Given the description of an element on the screen output the (x, y) to click on. 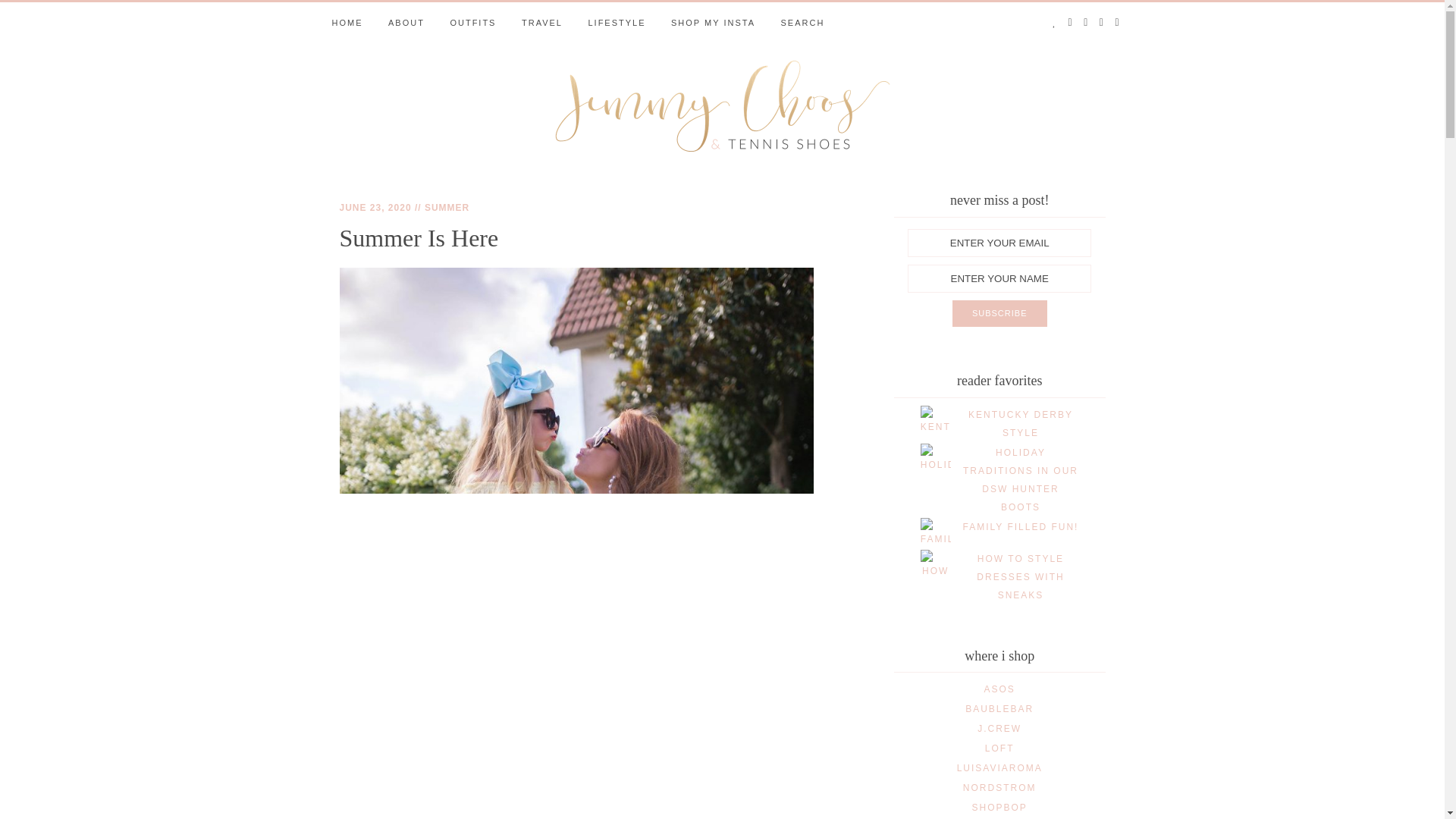
OUTFITS (472, 23)
Holiday Traditions in our DSW Hunter Boots (1020, 479)
Family Filled Fun! (1020, 526)
TRAVEL (541, 23)
SUMMER (446, 207)
Kentucky Derby Style (1020, 423)
SEARCH (802, 23)
Subscribe (999, 313)
ENTER YOUR NAME (998, 277)
SHOP MY INSTA (713, 23)
